Given the description of an element on the screen output the (x, y) to click on. 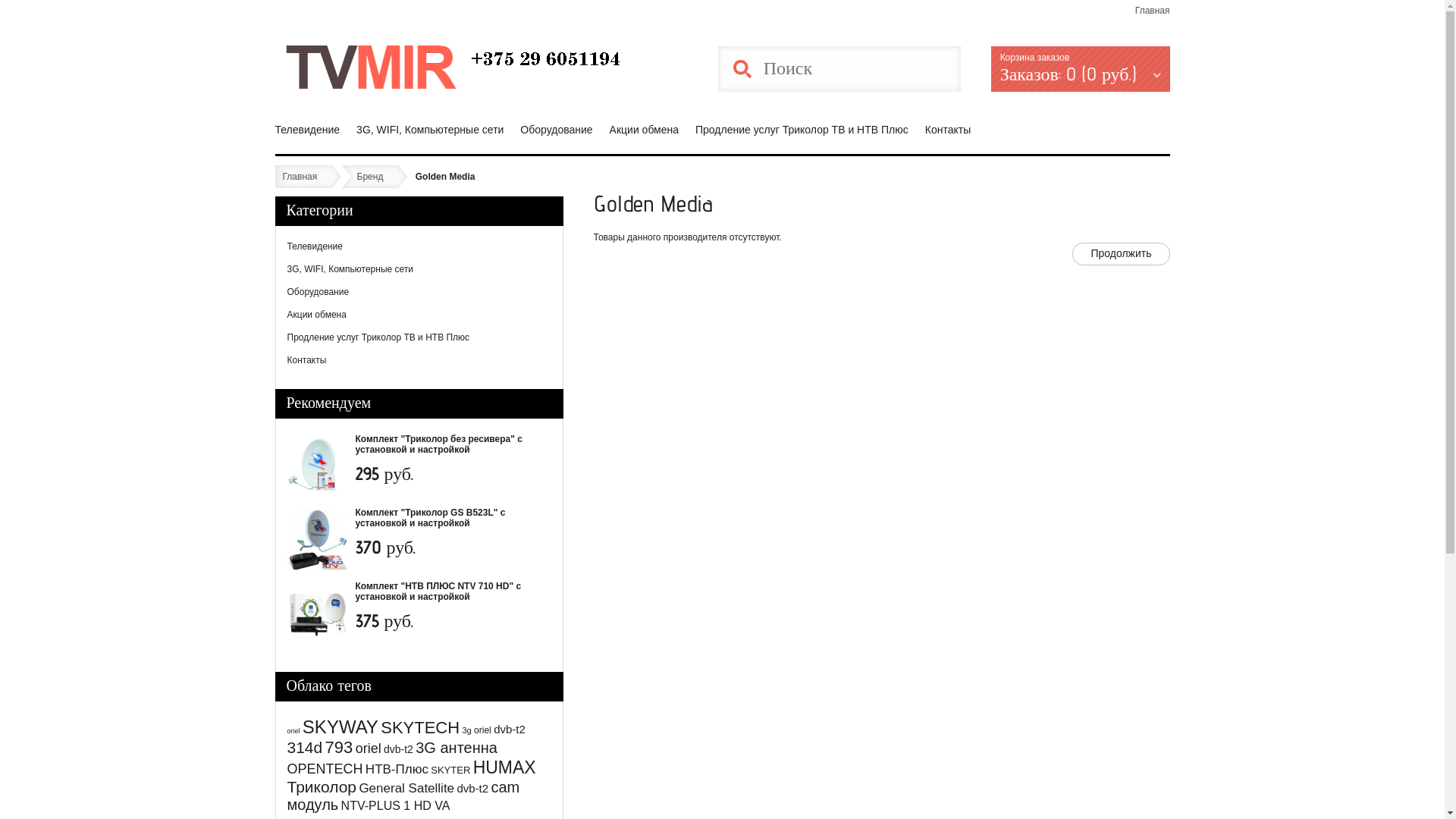
SKYTECH Element type: text (419, 727)
mdrop_bg_normal_color Element type: hover (452, 66)
HUMAX Element type: text (504, 767)
oriel Element type: text (368, 748)
3g Element type: text (466, 729)
dvb-t2 Element type: text (398, 749)
oriel Element type: text (482, 729)
OPENTECH Element type: text (324, 768)
793 Element type: text (339, 746)
General Satellite Element type: text (406, 788)
Golden Media Element type: text (449, 176)
dvb-t2 Element type: text (509, 728)
314d Element type: text (304, 747)
dvb-t2 Element type: text (472, 787)
SKYTER Element type: text (450, 769)
SKYWAY Element type: text (340, 726)
oriel Element type: text (292, 730)
NTV-PLUS 1 HD VA Element type: text (395, 805)
